Given the description of an element on the screen output the (x, y) to click on. 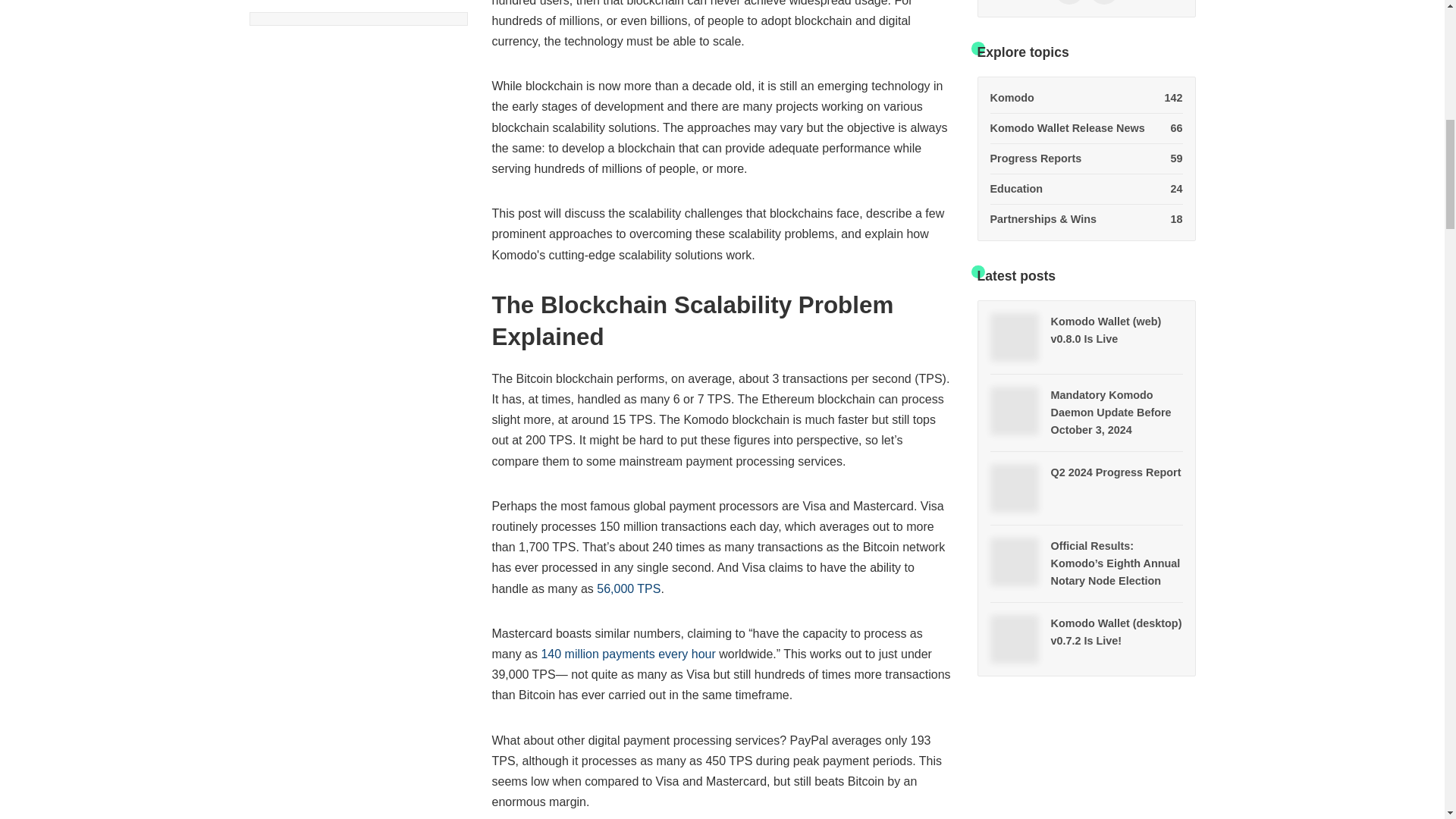
56,000 TPS (1086, 101)
RSS (628, 588)
Komodo (1103, 2)
Komodo Wallet Release News (1086, 101)
Linkedin (1086, 128)
Progress Reports (1068, 2)
140 million payments every hour (1086, 159)
